Given the description of an element on the screen output the (x, y) to click on. 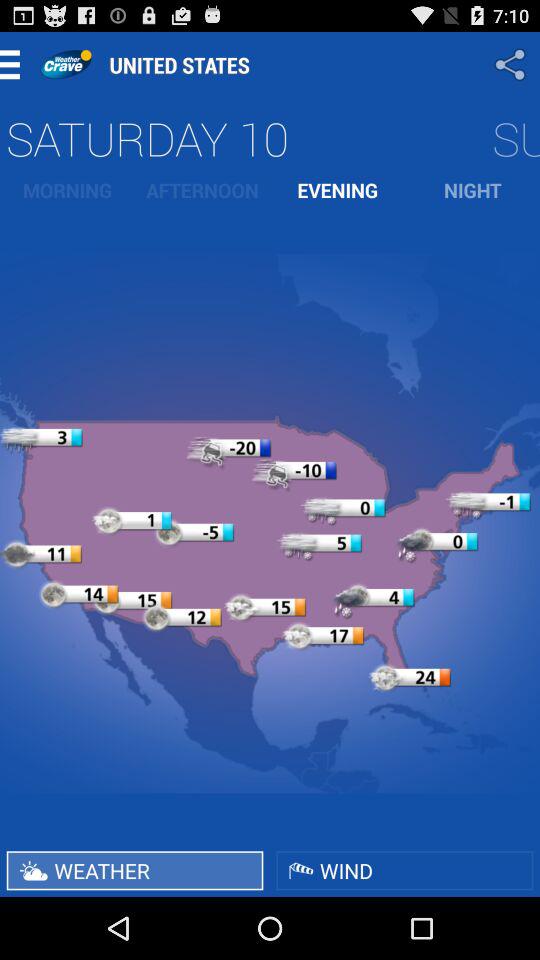
choose app next to night app (337, 190)
